Given the description of an element on the screen output the (x, y) to click on. 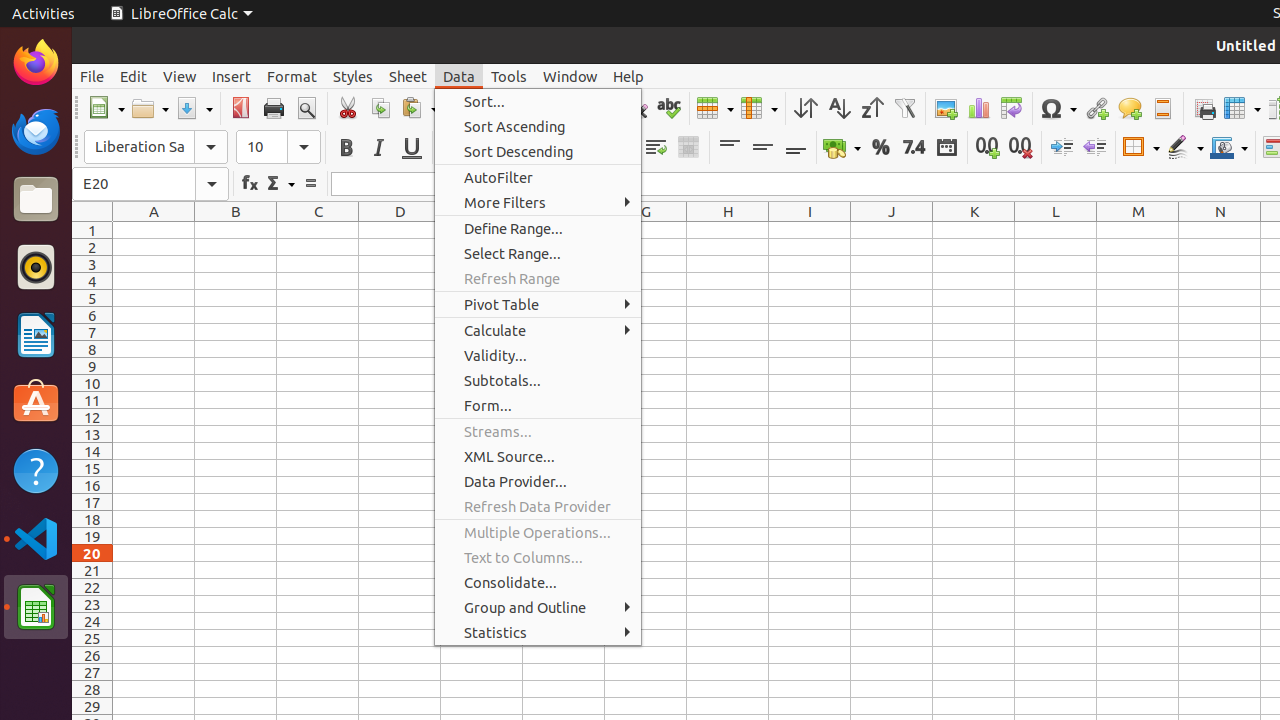
Streams... Element type: menu-item (538, 431)
Print Preview Element type: toggle-button (306, 108)
Align Top Element type: push-button (729, 147)
M1 Element type: table-cell (1138, 230)
Date Element type: push-button (946, 147)
